Given the description of an element on the screen output the (x, y) to click on. 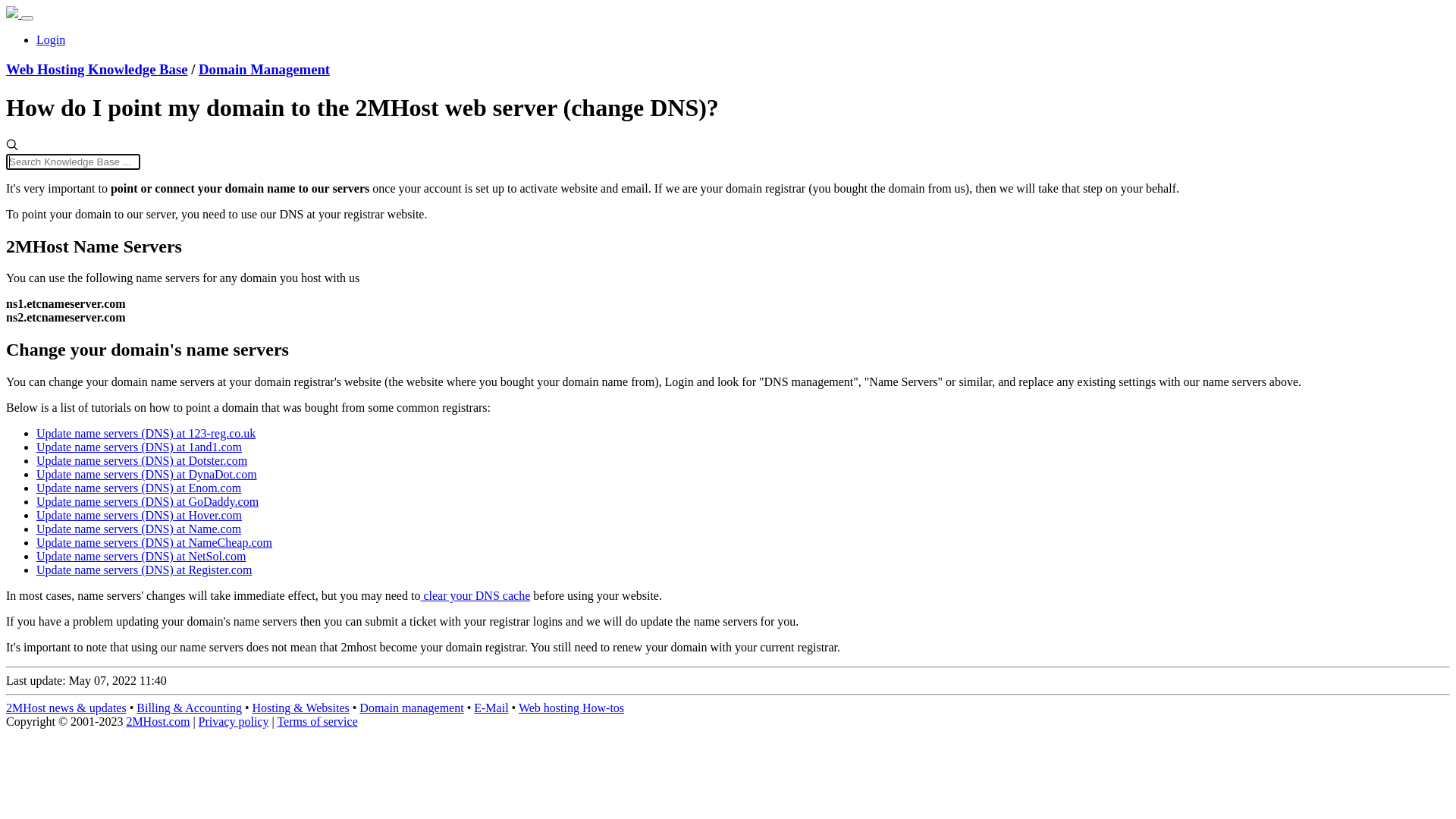
Terms of service Element type: text (316, 721)
clear your DNS cache Element type: text (475, 595)
Update name servers (DNS) at 1and1.com Element type: text (138, 446)
Update name servers (DNS) at Hover.com Element type: text (138, 514)
Update name servers (DNS) at NetSol.com Element type: text (140, 555)
Login Element type: text (50, 39)
2MHost news & updates Element type: text (66, 707)
Update name servers (DNS) at Name.com Element type: text (138, 528)
Privacy policy Element type: text (233, 721)
Web hosting How-tos Element type: text (571, 707)
E-Mail Element type: text (490, 707)
Update name servers (DNS) at Register.com Element type: text (143, 569)
Update name servers (DNS) at GoDaddy.com Element type: text (147, 501)
Update name servers (DNS) at Dotster.com Element type: text (141, 460)
2MHost.com Element type: text (157, 721)
Billing & Accounting Element type: text (188, 707)
Update name servers (DNS) at DynaDot.com Element type: text (146, 473)
Domain Management Element type: text (263, 69)
Domain management Element type: text (411, 707)
Web Hosting Knowledge Base Element type: text (97, 69)
Update name servers (DNS) at Enom.com Element type: text (138, 487)
Update name servers (DNS) at NameCheap.com Element type: text (154, 542)
Update name servers (DNS) at 123-reg.co.uk Element type: text (145, 432)
Hosting & Websites Element type: text (300, 707)
